Given the description of an element on the screen output the (x, y) to click on. 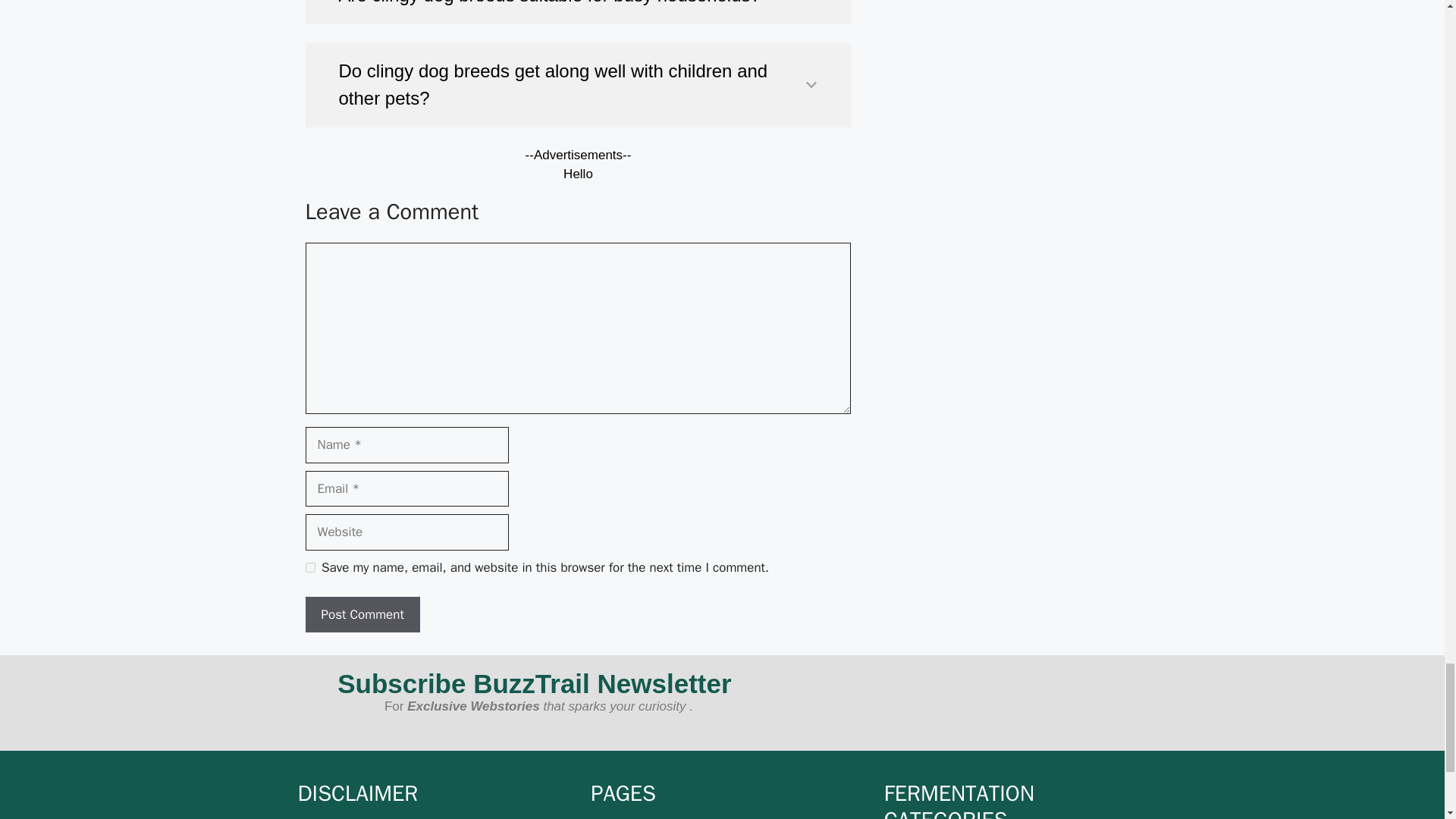
Post Comment (361, 615)
yes (309, 567)
Post Comment (361, 615)
